Given the description of an element on the screen output the (x, y) to click on. 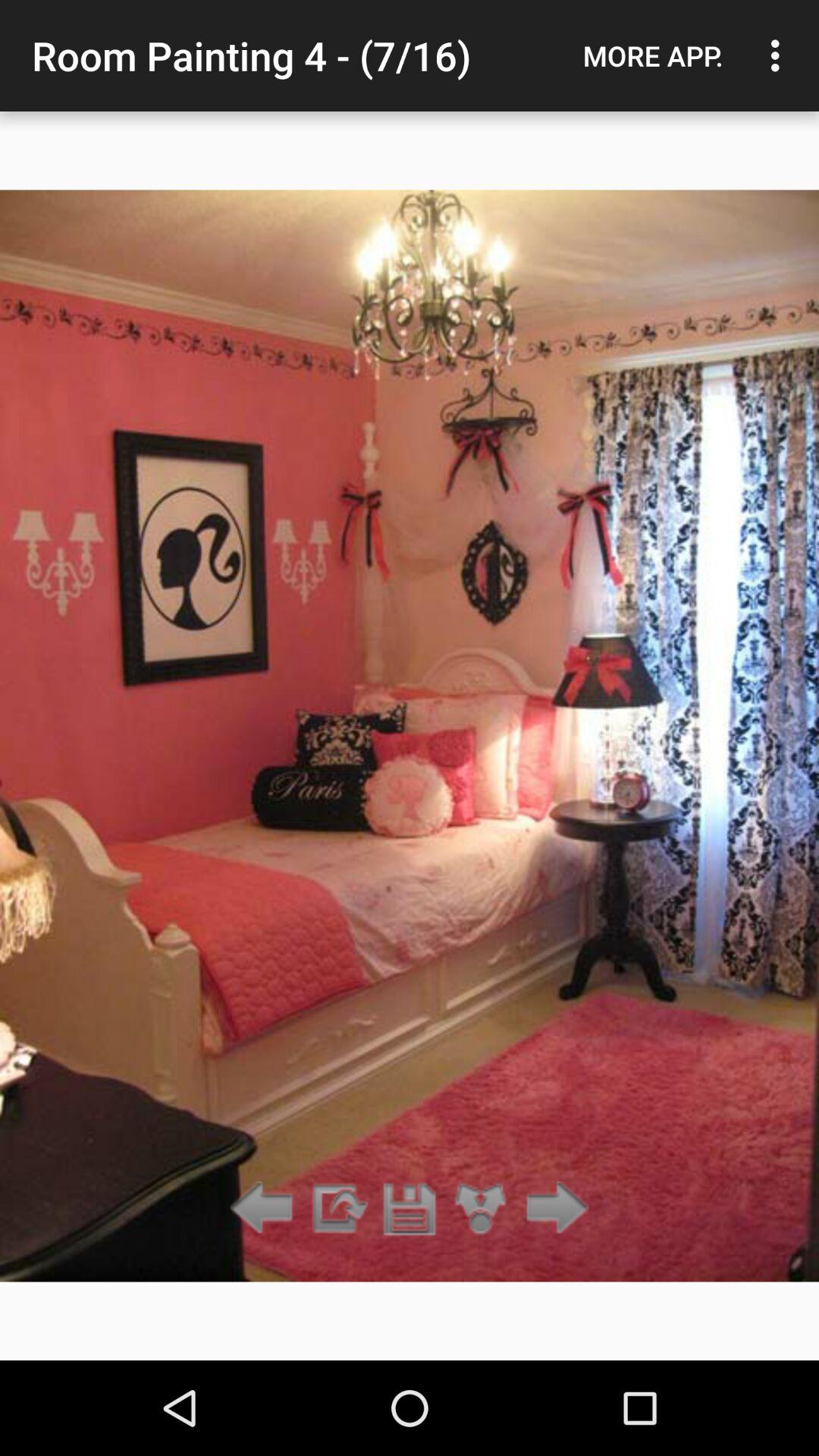
launch app next to the room painting 4 item (653, 55)
